Given the description of an element on the screen output the (x, y) to click on. 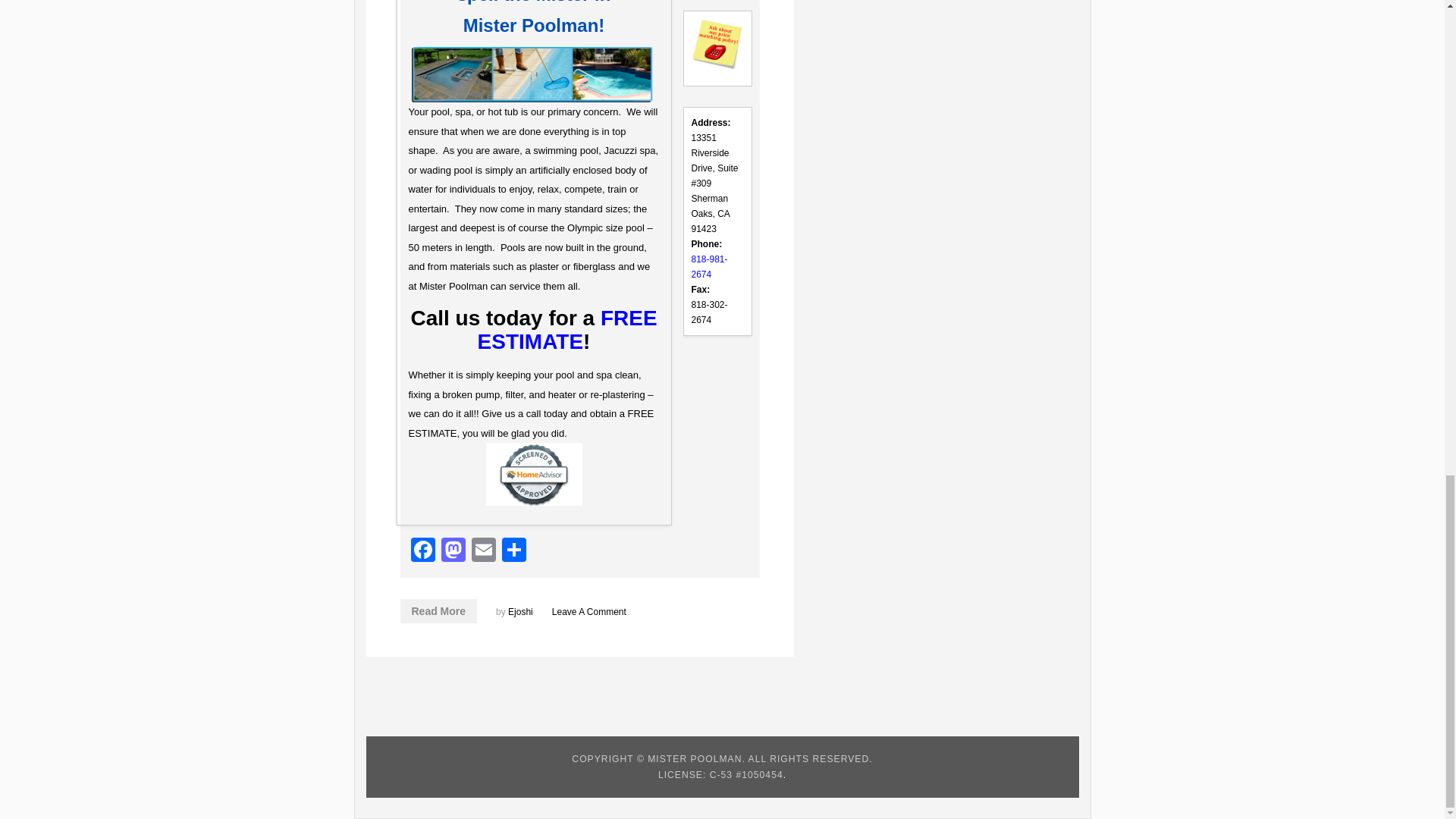
seal (532, 474)
Facebook (422, 551)
Mastodon (453, 551)
h123 (533, 74)
Email (483, 551)
